Given the description of an element on the screen output the (x, y) to click on. 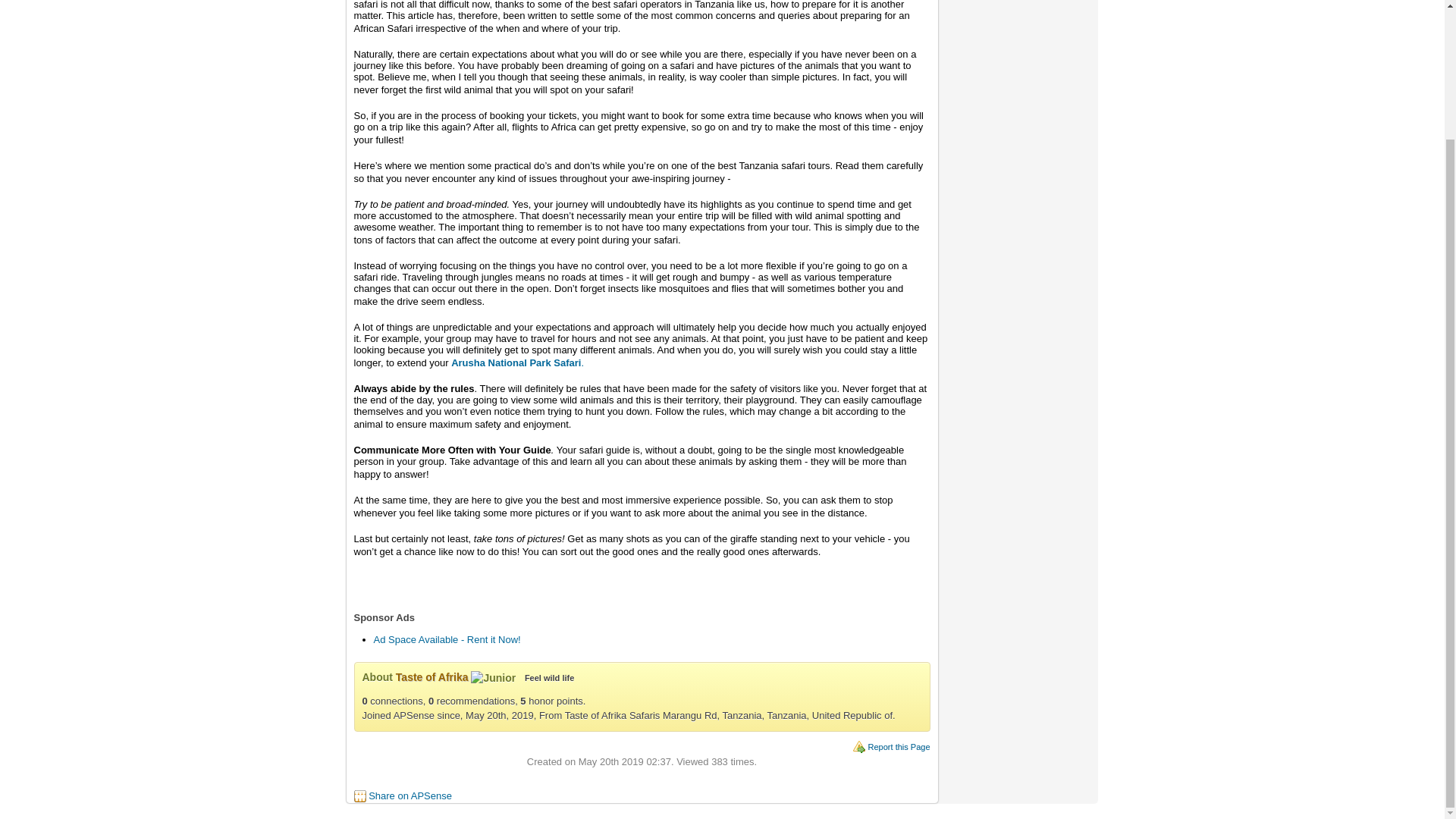
Share on APSense (409, 795)
Share on APSense (409, 795)
Ad Space Available - Rent it Now! (445, 639)
Junior (492, 678)
Report this Page (898, 746)
Arusha National Park Safari. (517, 362)
Taste of Afrika (432, 676)
